Given the description of an element on the screen output the (x, y) to click on. 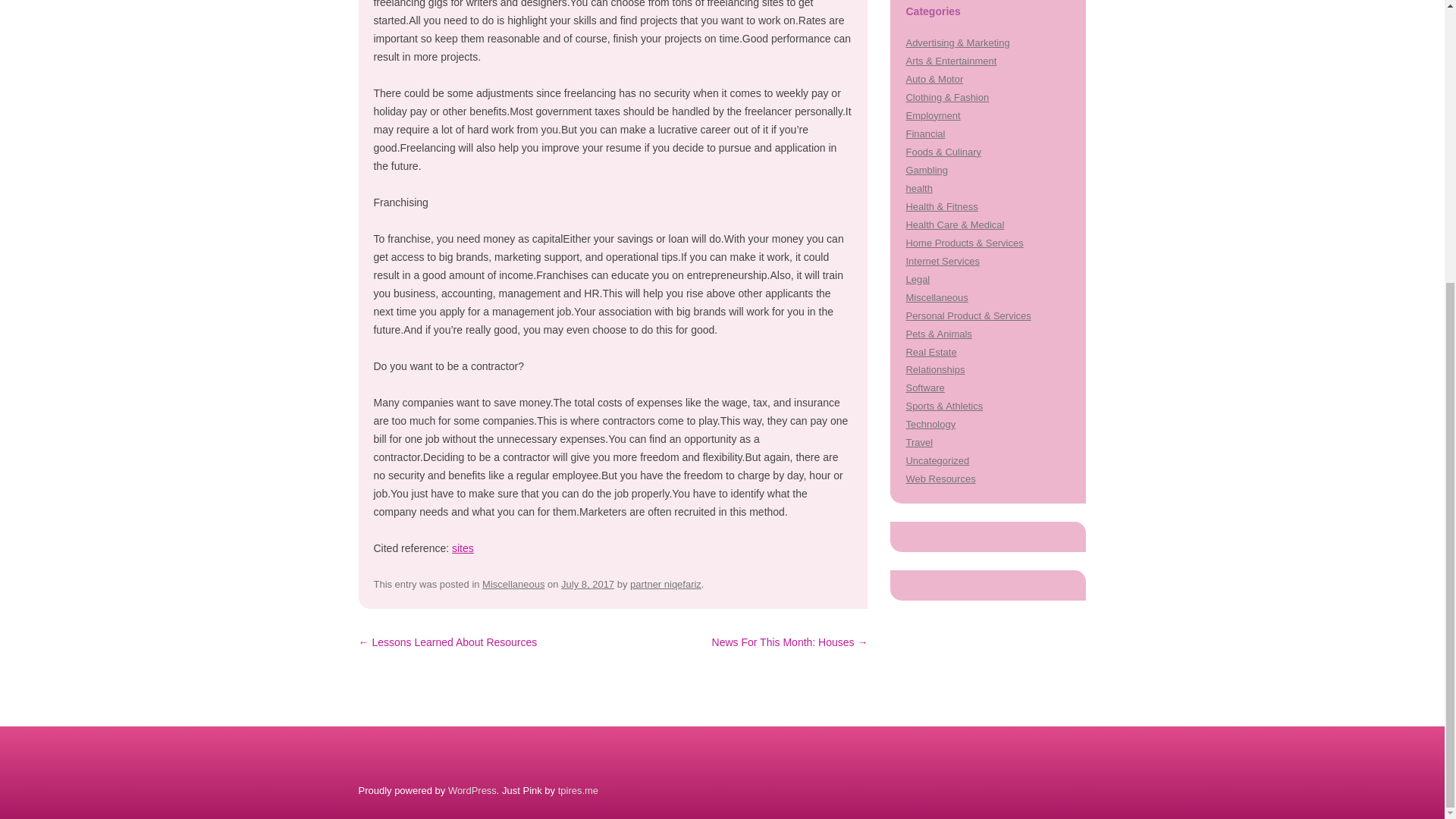
Real Estate (930, 351)
Semantic Personal Publishing Platform (472, 790)
Travel (919, 441)
Financial (924, 133)
partner niqefariz (665, 583)
Miscellaneous (512, 583)
Miscellaneous (936, 297)
health (918, 188)
Software (924, 387)
Relationships (934, 369)
Employment (932, 115)
Technology (930, 423)
July 8, 2017 (587, 583)
Legal (917, 279)
10:50 am (587, 583)
